Given the description of an element on the screen output the (x, y) to click on. 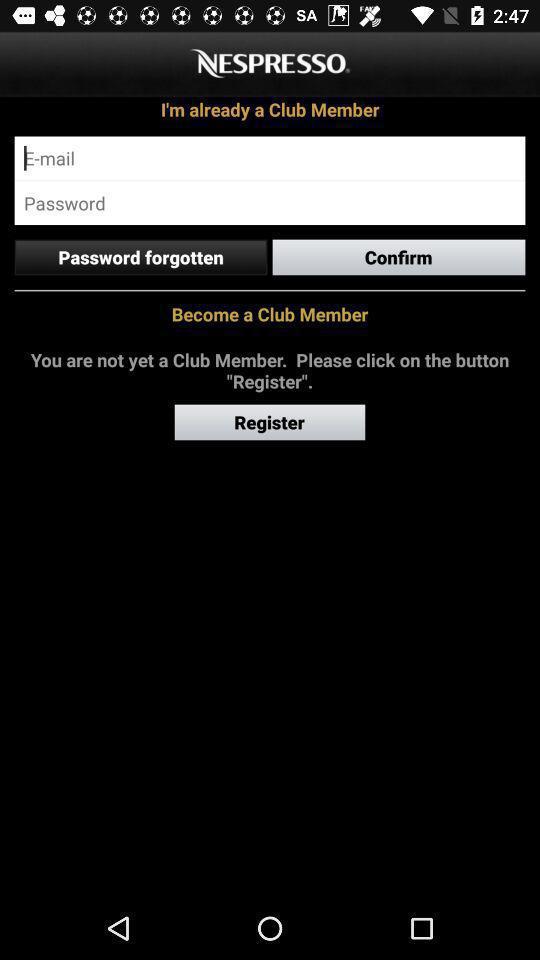
add e-mail (269, 158)
